Given the description of an element on the screen output the (x, y) to click on. 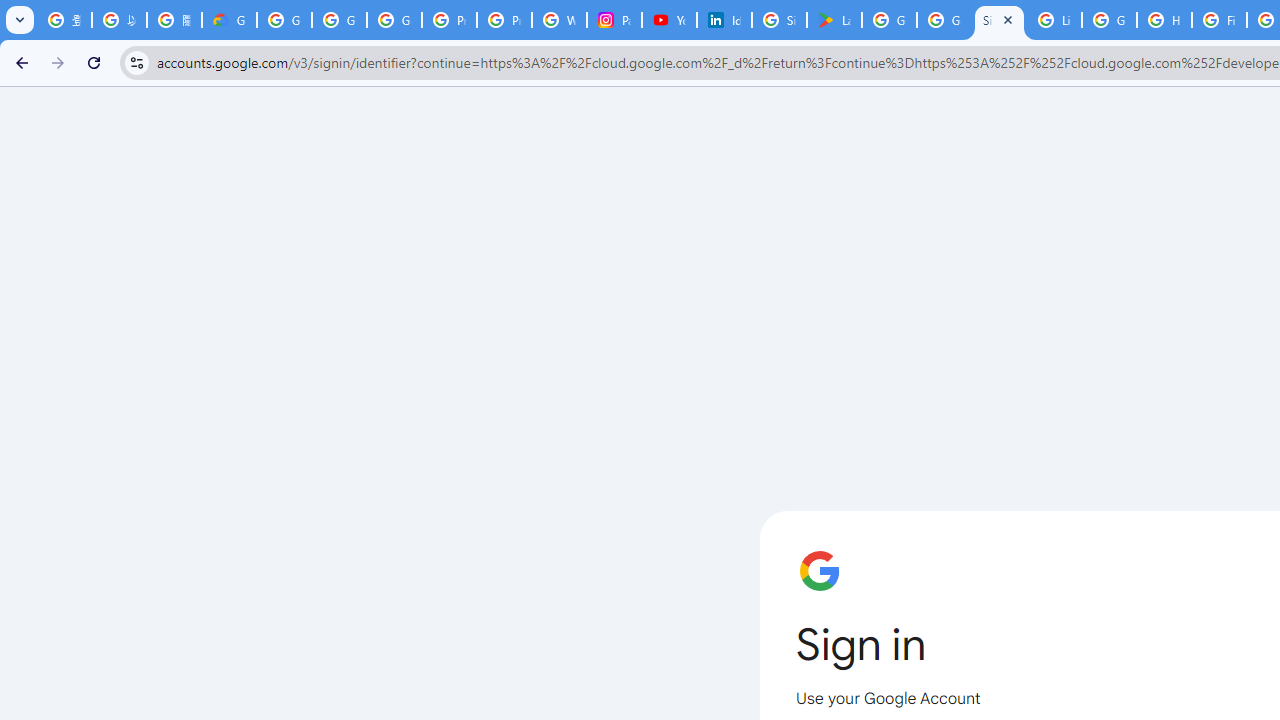
Sign in - Google Accounts (779, 20)
How do I create a new Google Account? - Google Account Help (1163, 20)
